Given the description of an element on the screen output the (x, y) to click on. 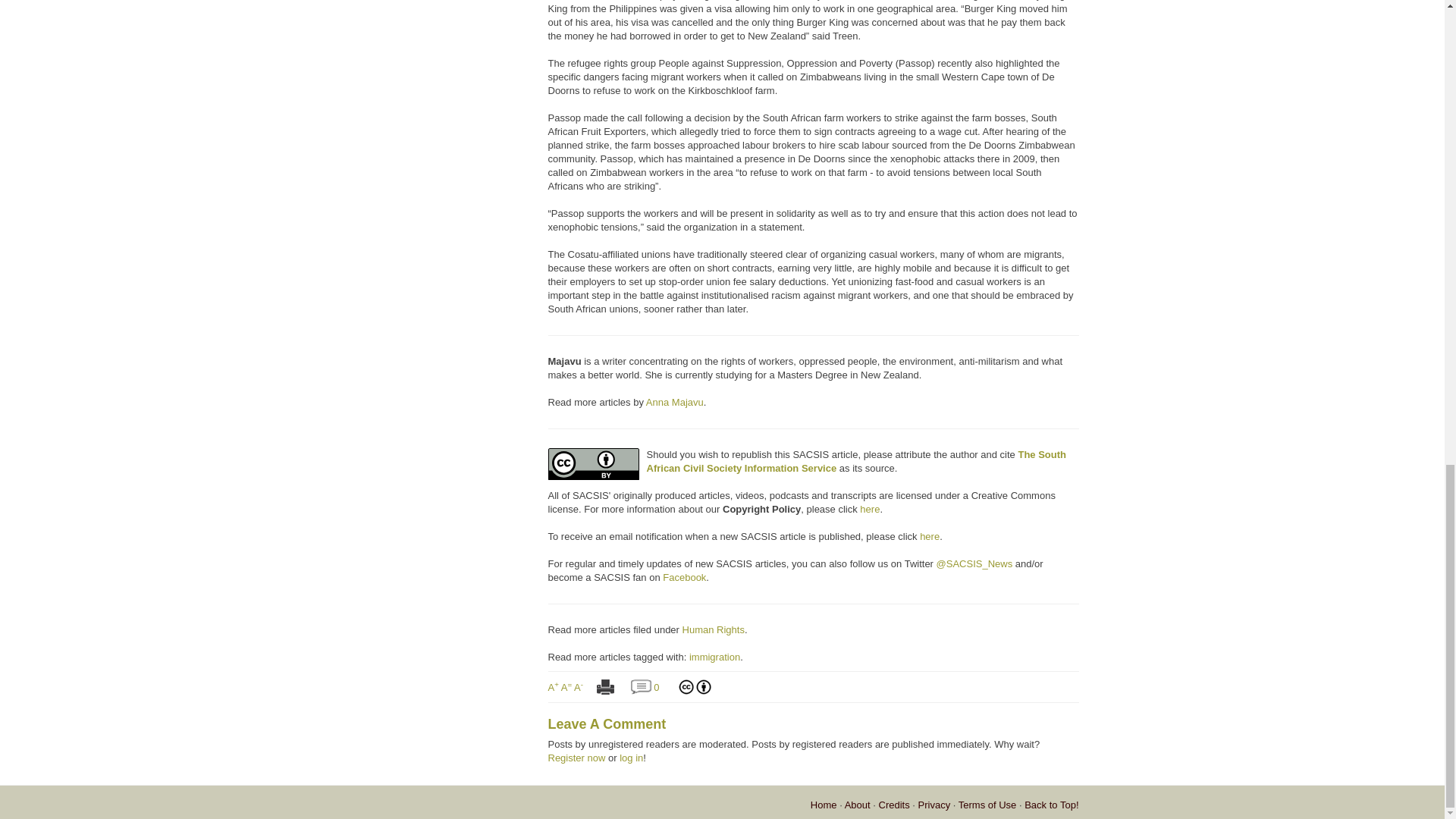
Print this page (605, 686)
0 comments (640, 686)
